Given the description of an element on the screen output the (x, y) to click on. 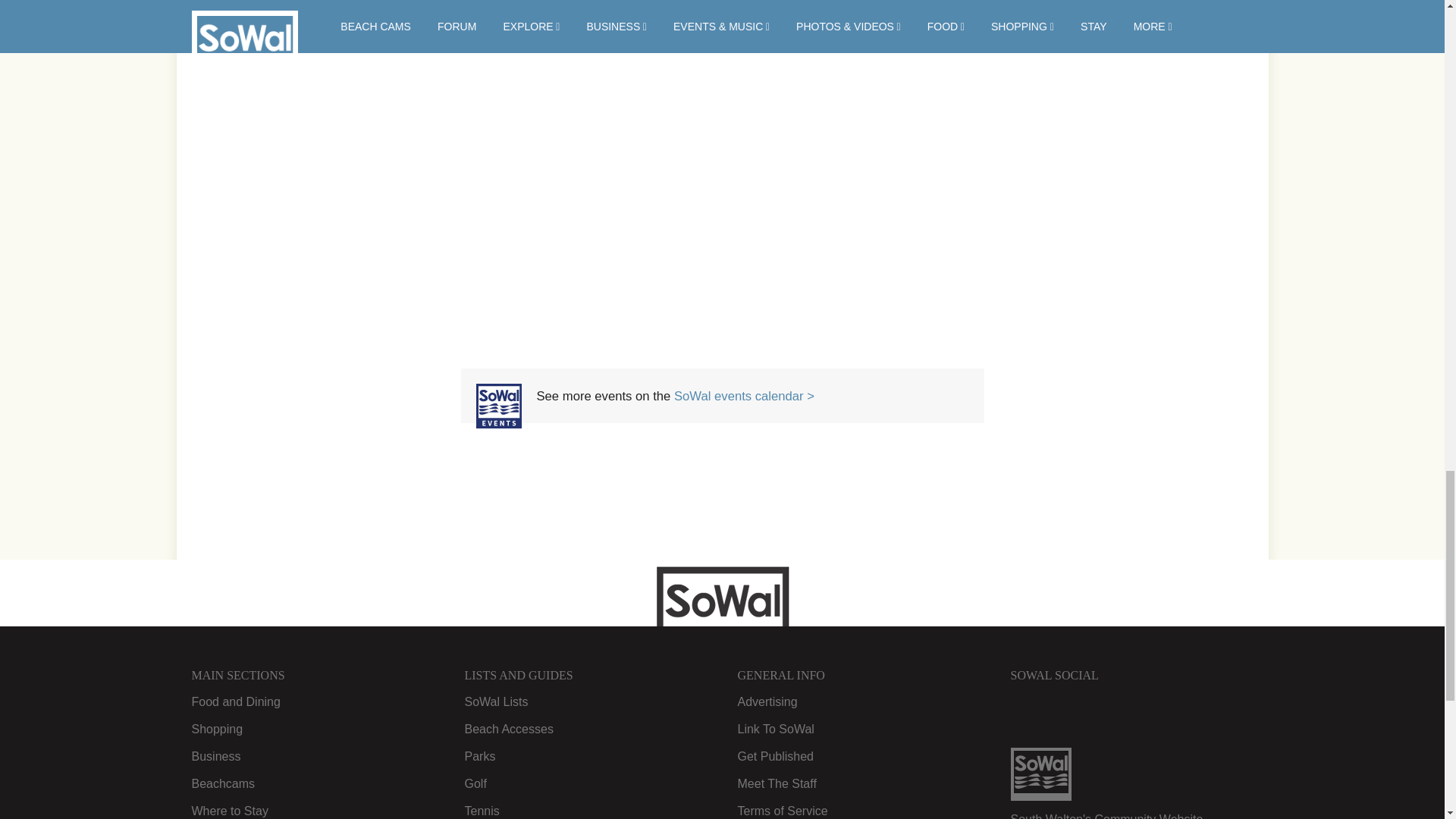
go to event calendar (498, 422)
visit the SoWal events calendar (743, 396)
